Given the description of an element on the screen output the (x, y) to click on. 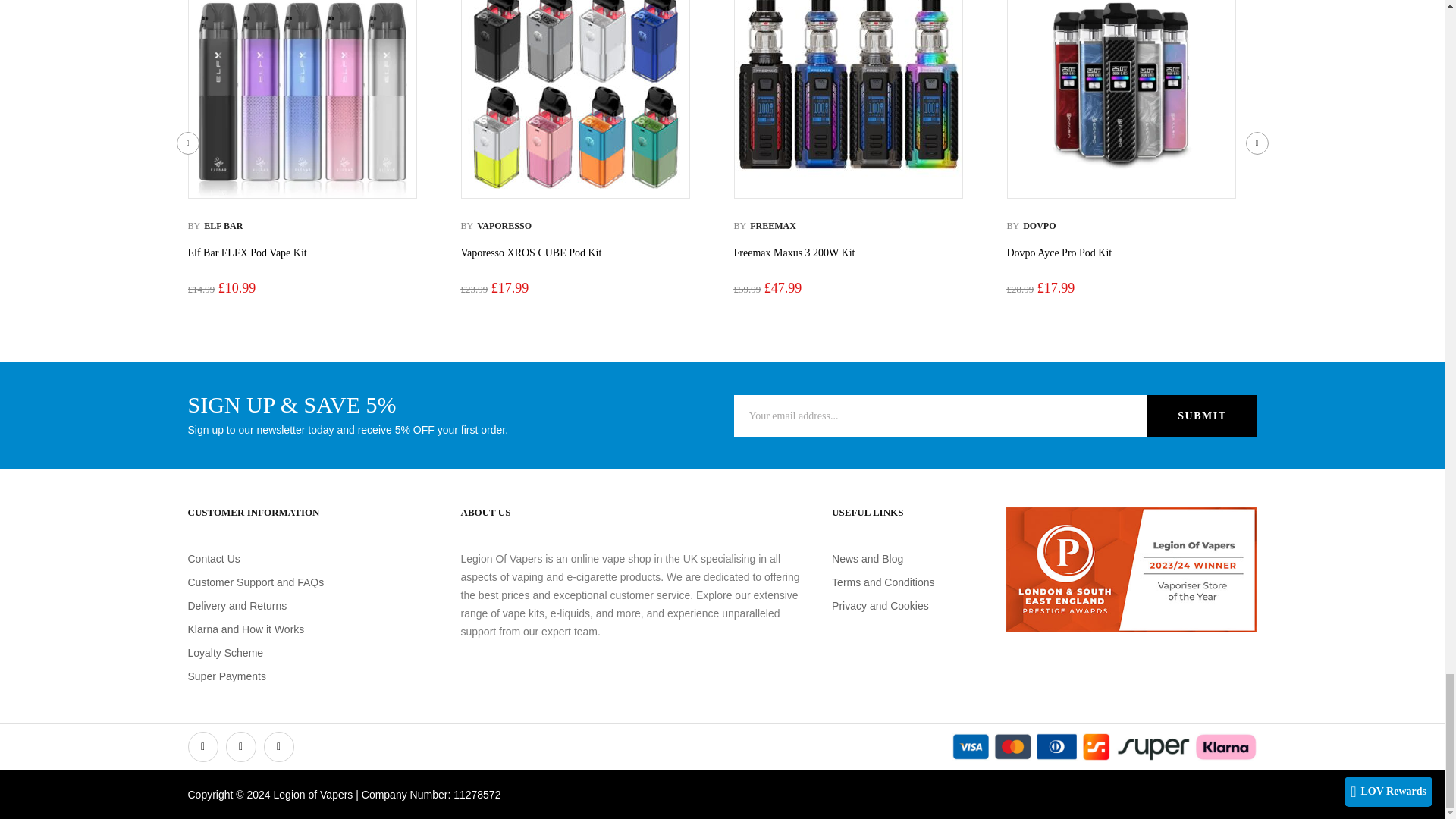
SUBMIT (1201, 415)
